Given the description of an element on the screen output the (x, y) to click on. 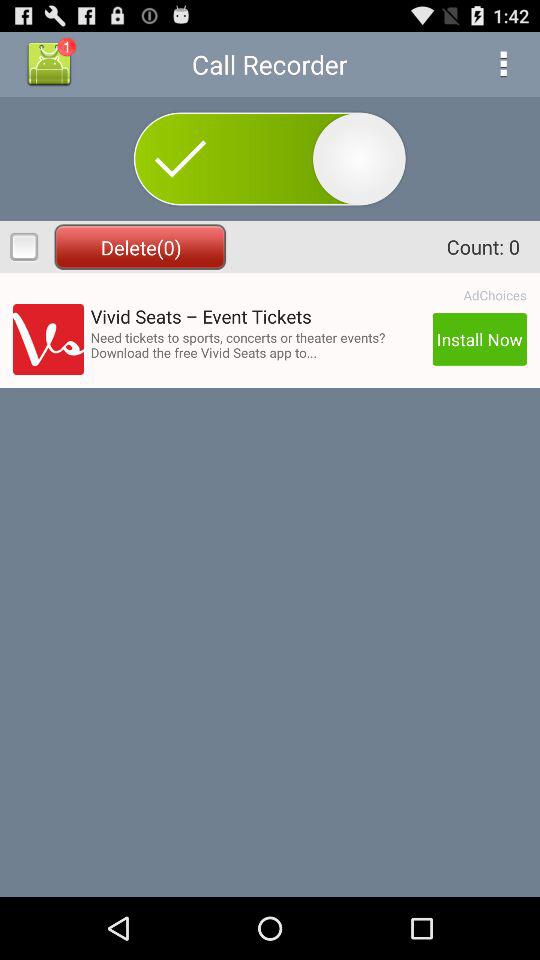
launch the item to the left of delete(0) icon (23, 246)
